Given the description of an element on the screen output the (x, y) to click on. 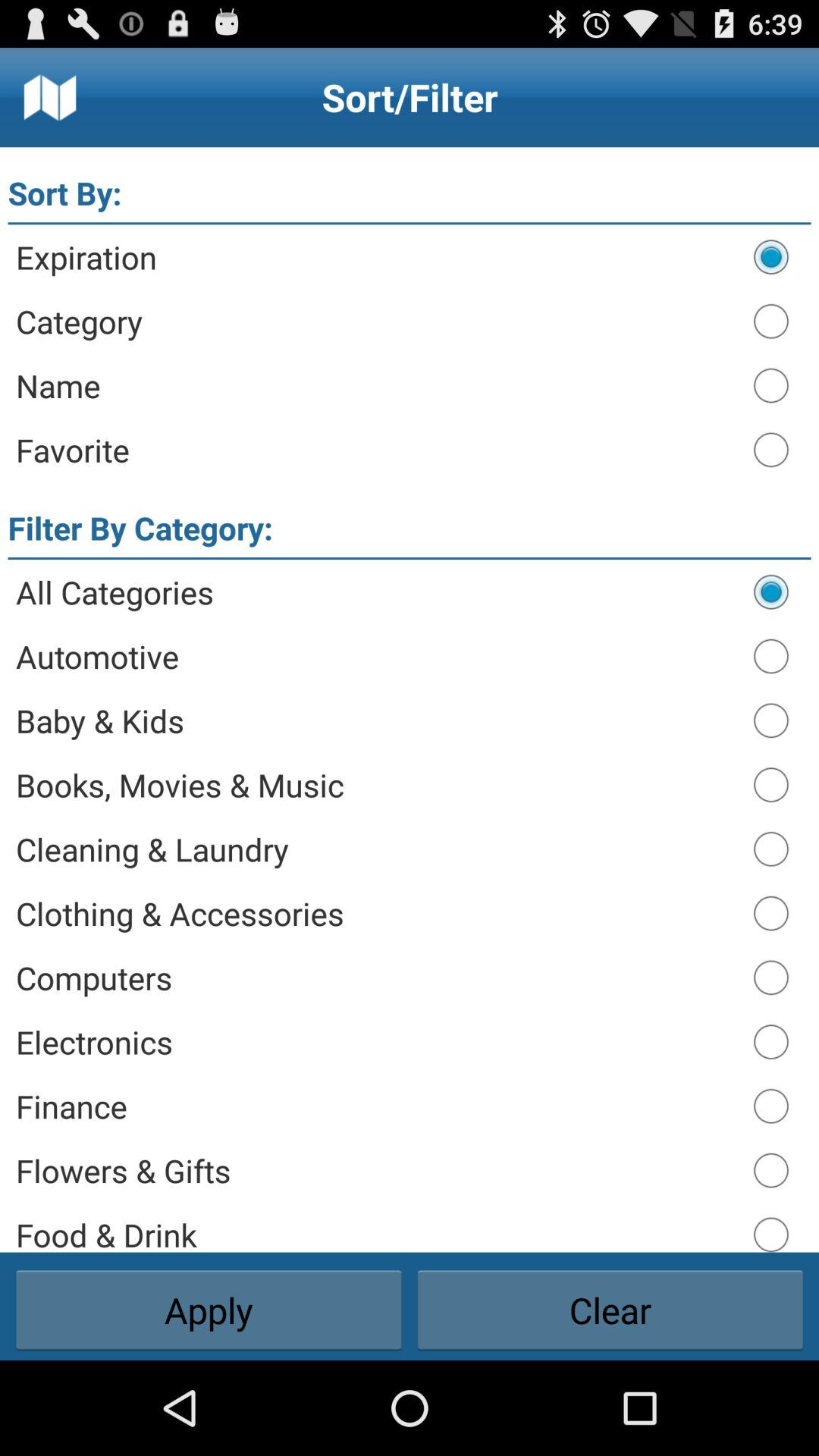
click on clear (610, 1310)
